Given the description of an element on the screen output the (x, y) to click on. 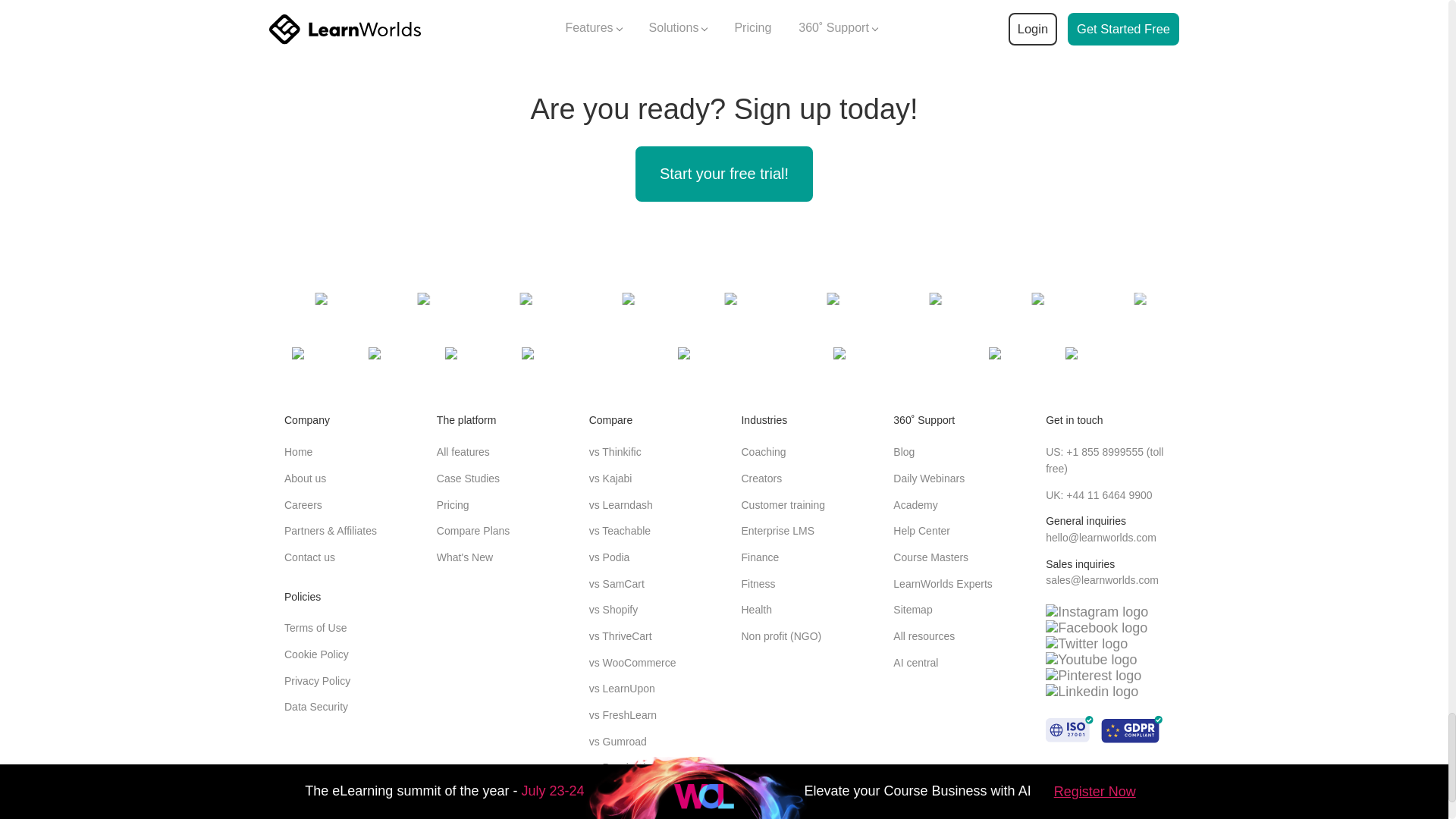
send email to LearnWorlds (1101, 580)
send email to LearnWorlds (1100, 537)
